Given the description of an element on the screen output the (x, y) to click on. 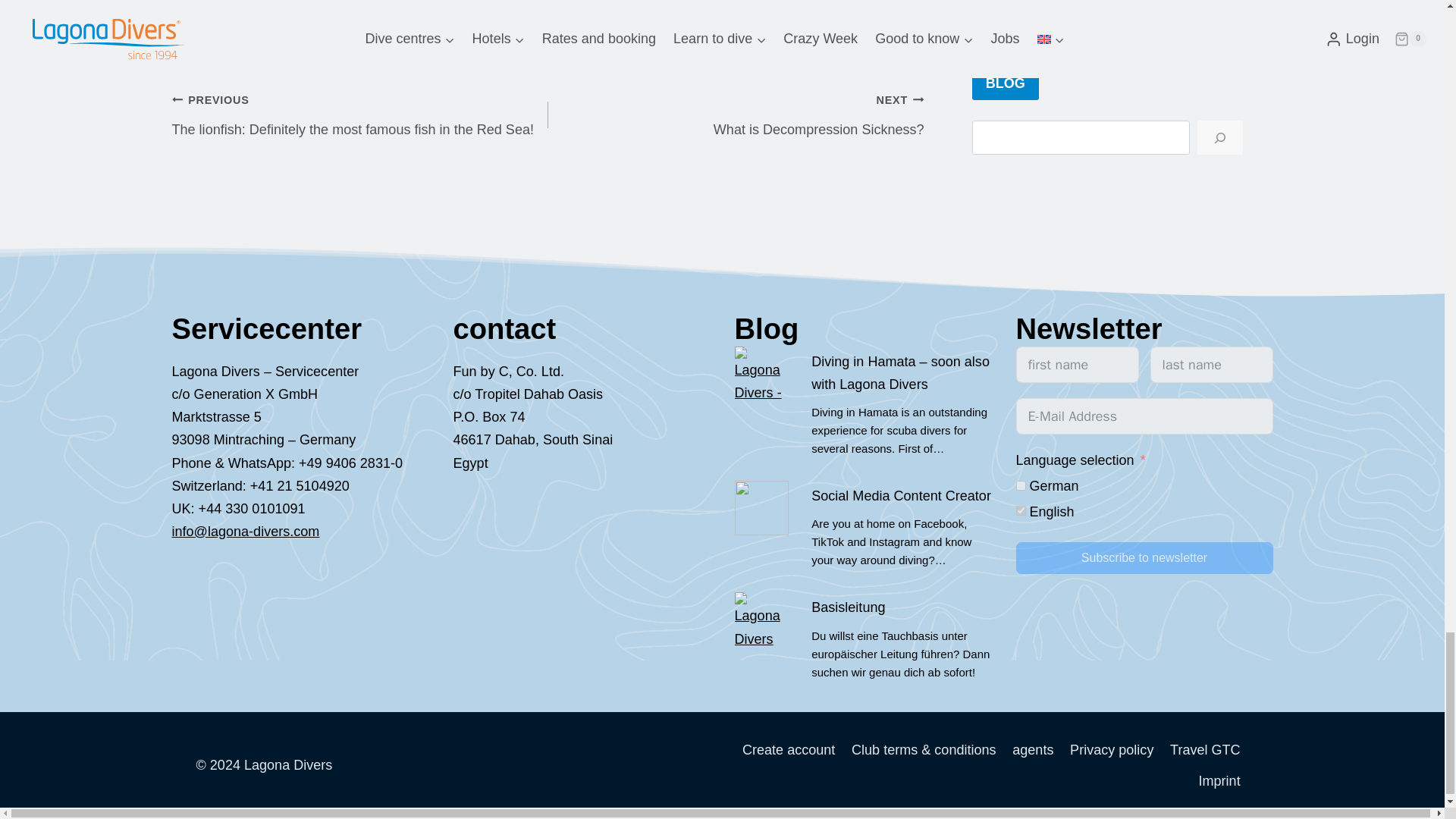
English (1021, 510)
German (1021, 485)
